Given the description of an element on the screen output the (x, y) to click on. 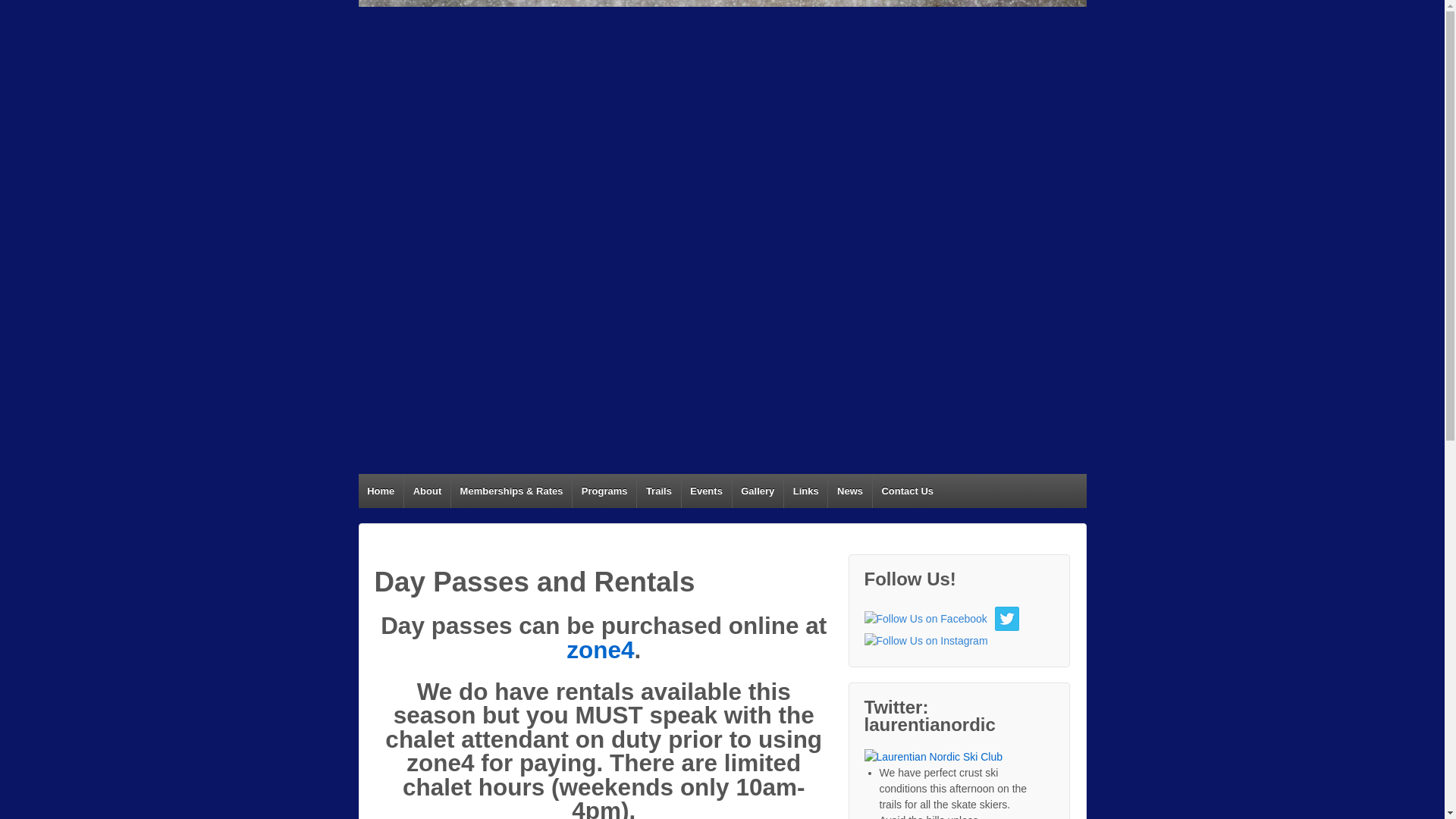
Home (380, 490)
Follow Us on Twitter (1006, 618)
About (426, 490)
Laurentian Nordic Ski Club (933, 756)
Programs (604, 490)
Follow Us on Instagram (926, 641)
Links (805, 490)
Gallery (757, 490)
Follow Us on Facebook (925, 618)
Trails (657, 490)
Events (706, 490)
